Given the description of an element on the screen output the (x, y) to click on. 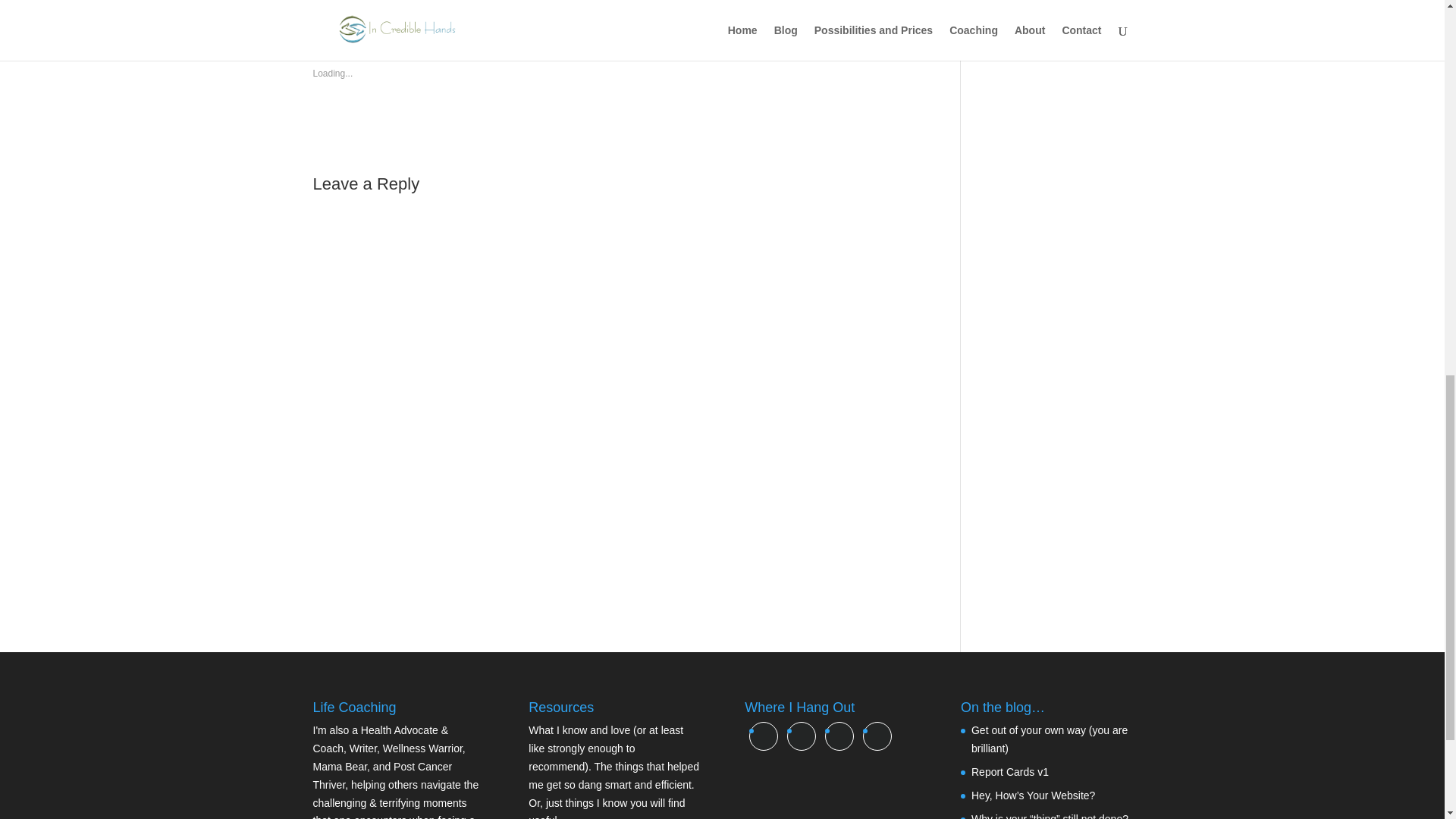
Click to share on Facebook (354, 2)
Report Cards v1 (1009, 771)
Click to share on Twitter (324, 2)
Click to email a link to a friend (384, 2)
